Given the description of an element on the screen output the (x, y) to click on. 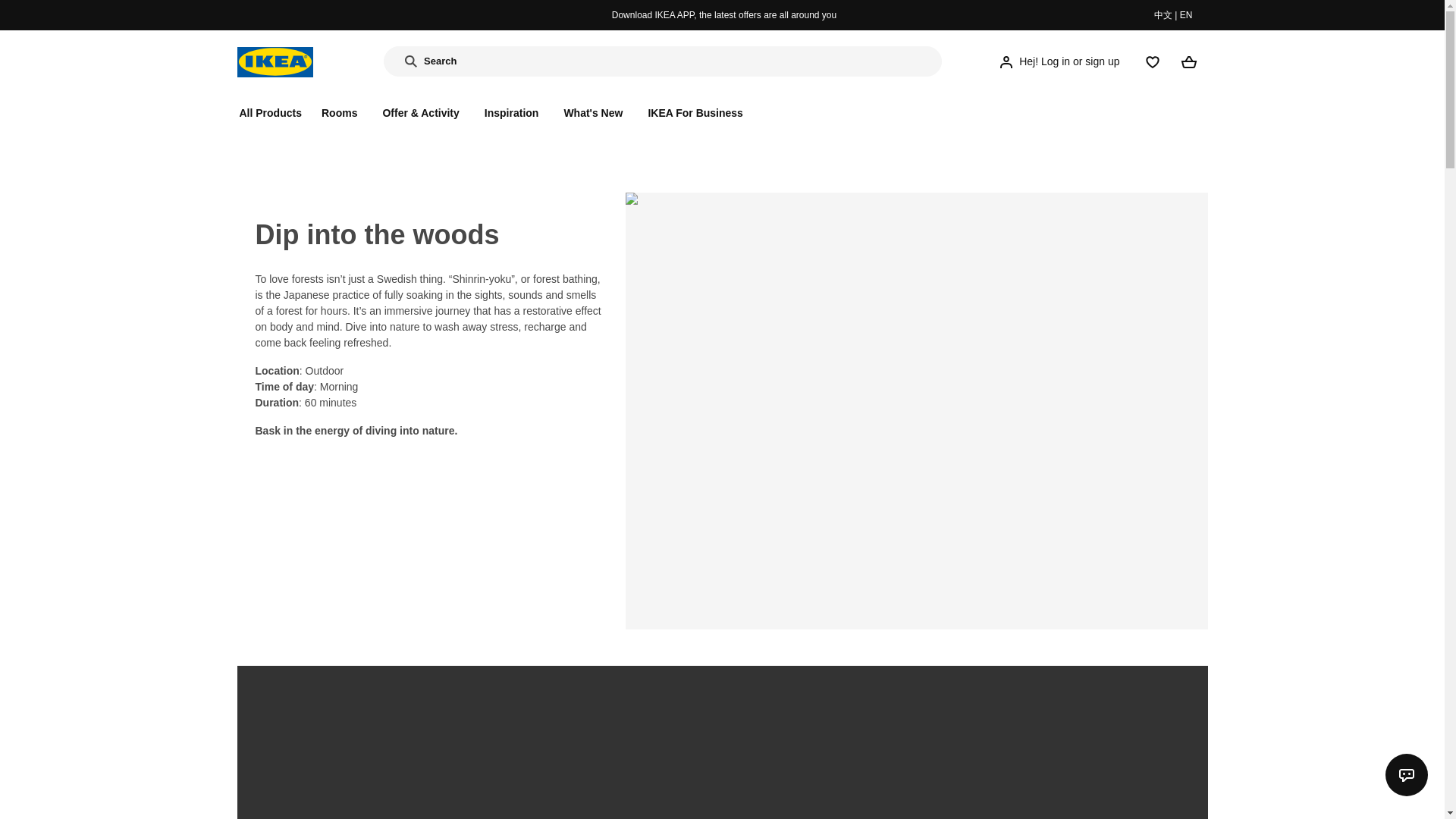
Download IKEA APP, the latest offers are all around you (723, 15)
